Given the description of an element on the screen output the (x, y) to click on. 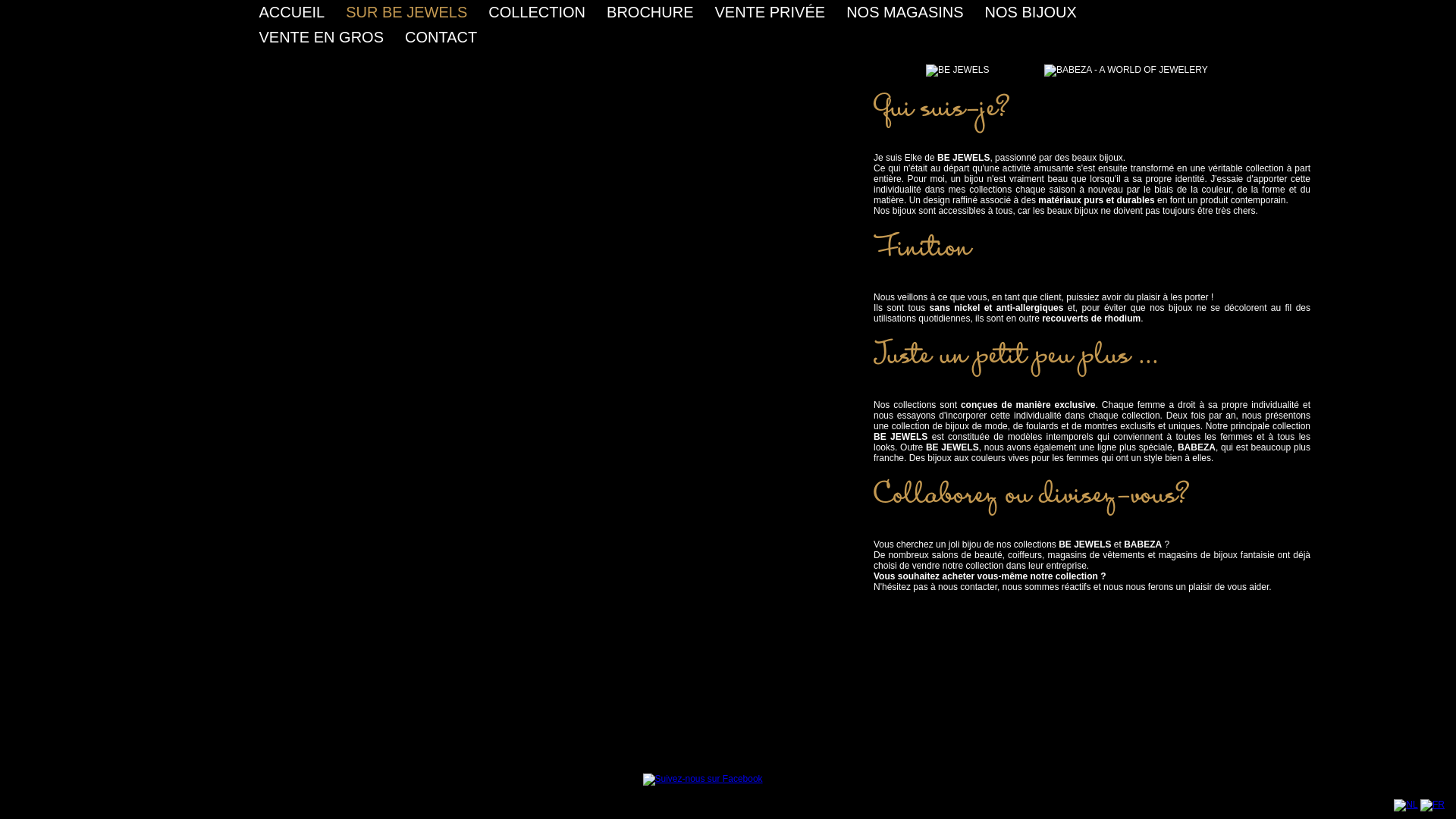
NOS BIJOUX Element type: text (1030, 11)
CONTACT Element type: text (440, 36)
NOS MAGASINS Element type: text (904, 11)
BROCHURE Element type: text (649, 11)
VENTE EN GROS Element type: text (321, 36)
COLLECTION Element type: text (536, 11)
ACCUEIL Element type: text (292, 11)
SUR BE JEWELS Element type: text (406, 11)
